Given the description of an element on the screen output the (x, y) to click on. 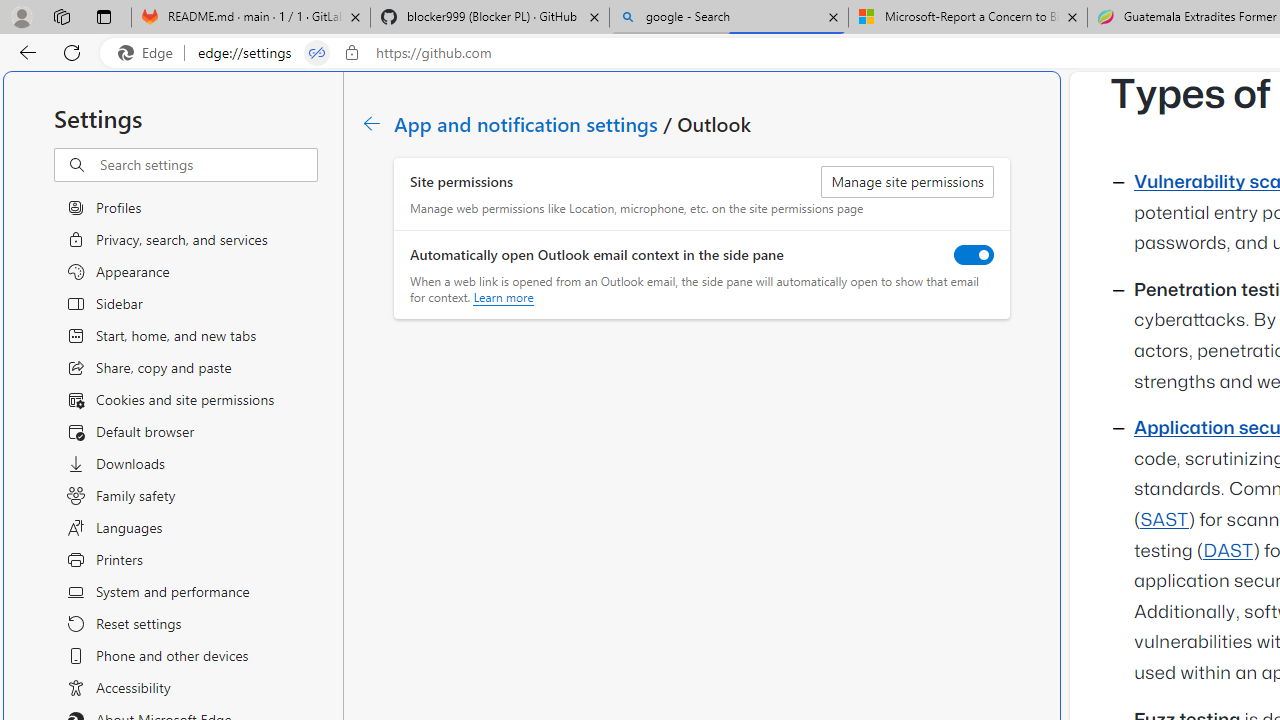
Go back to App and notification settings page. (372, 123)
Microsoft-Report a Concern to Bing (967, 17)
Manage site permissions (907, 182)
google - Search (729, 17)
Tabs in split screen (317, 53)
DAST (1228, 551)
SAST (1164, 520)
Automatically open Outlook email context in the side pane (973, 254)
